Given the description of an element on the screen output the (x, y) to click on. 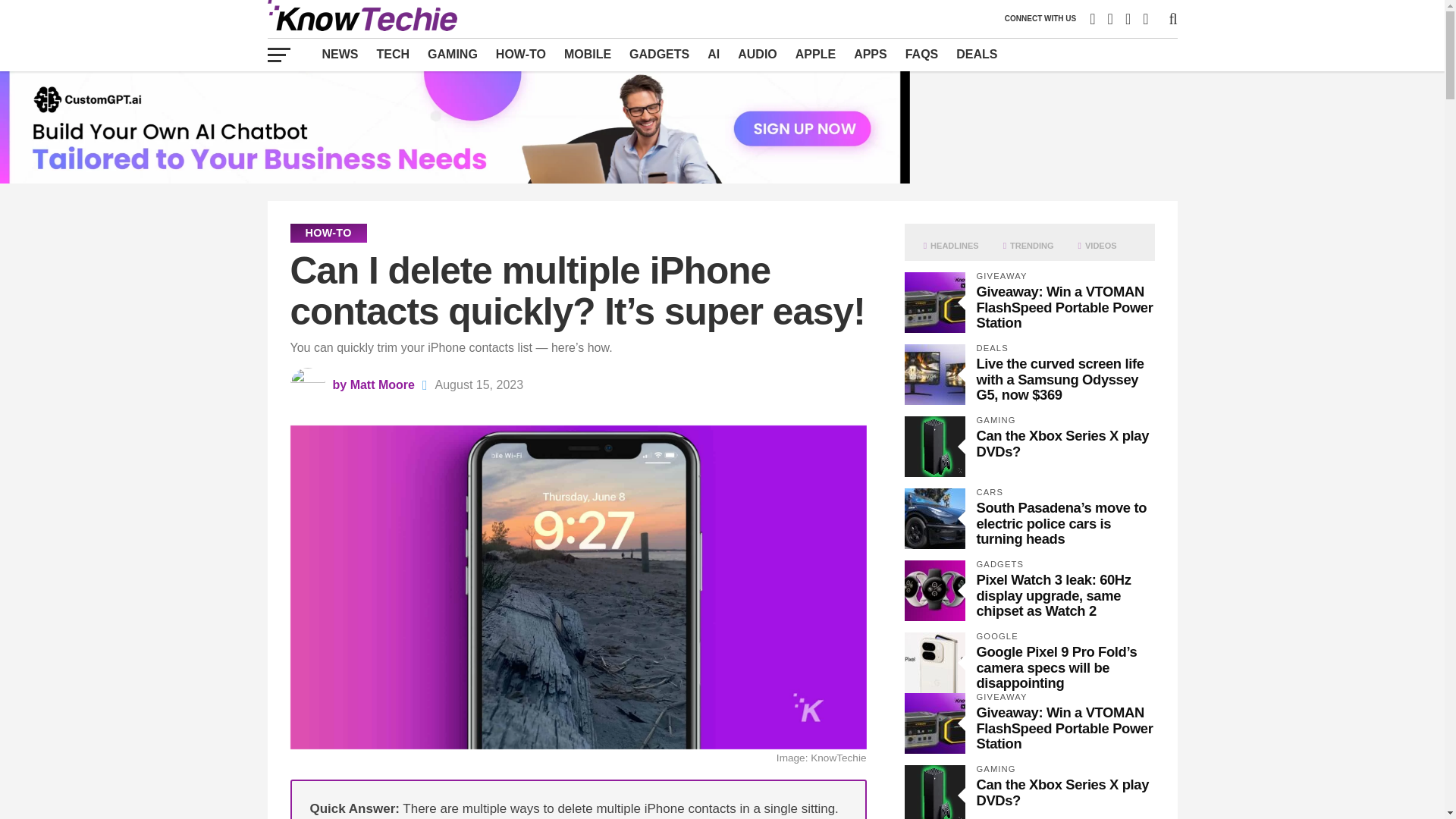
FAQS (921, 54)
AUDIO (757, 54)
MOBILE (587, 54)
GADGETS (659, 54)
AI (713, 54)
NEWS (339, 54)
TECH (392, 54)
APPLE (815, 54)
GAMING (452, 54)
DEALS (976, 54)
